Given the description of an element on the screen output the (x, y) to click on. 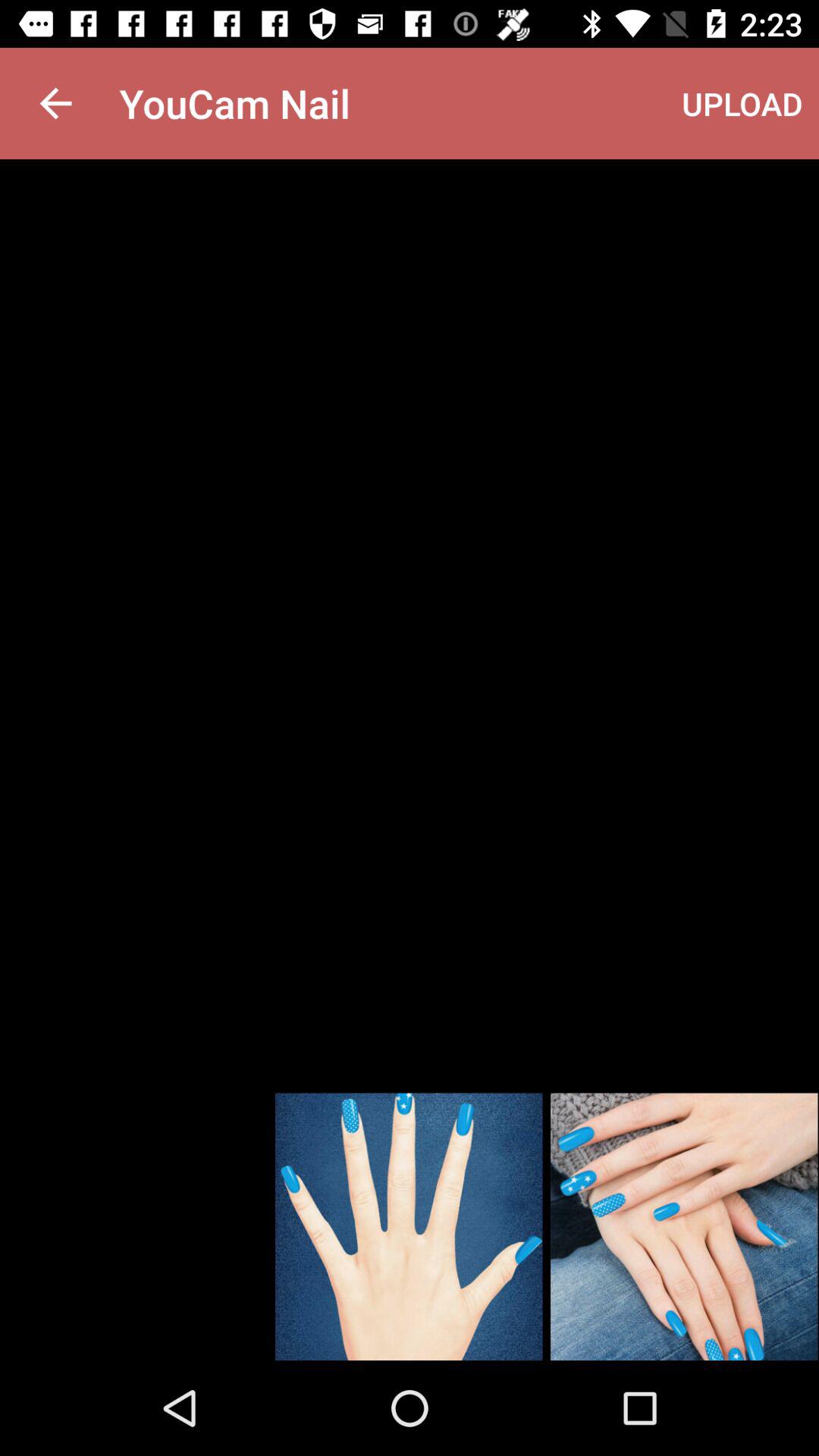
select photo (408, 1226)
